Given the description of an element on the screen output the (x, y) to click on. 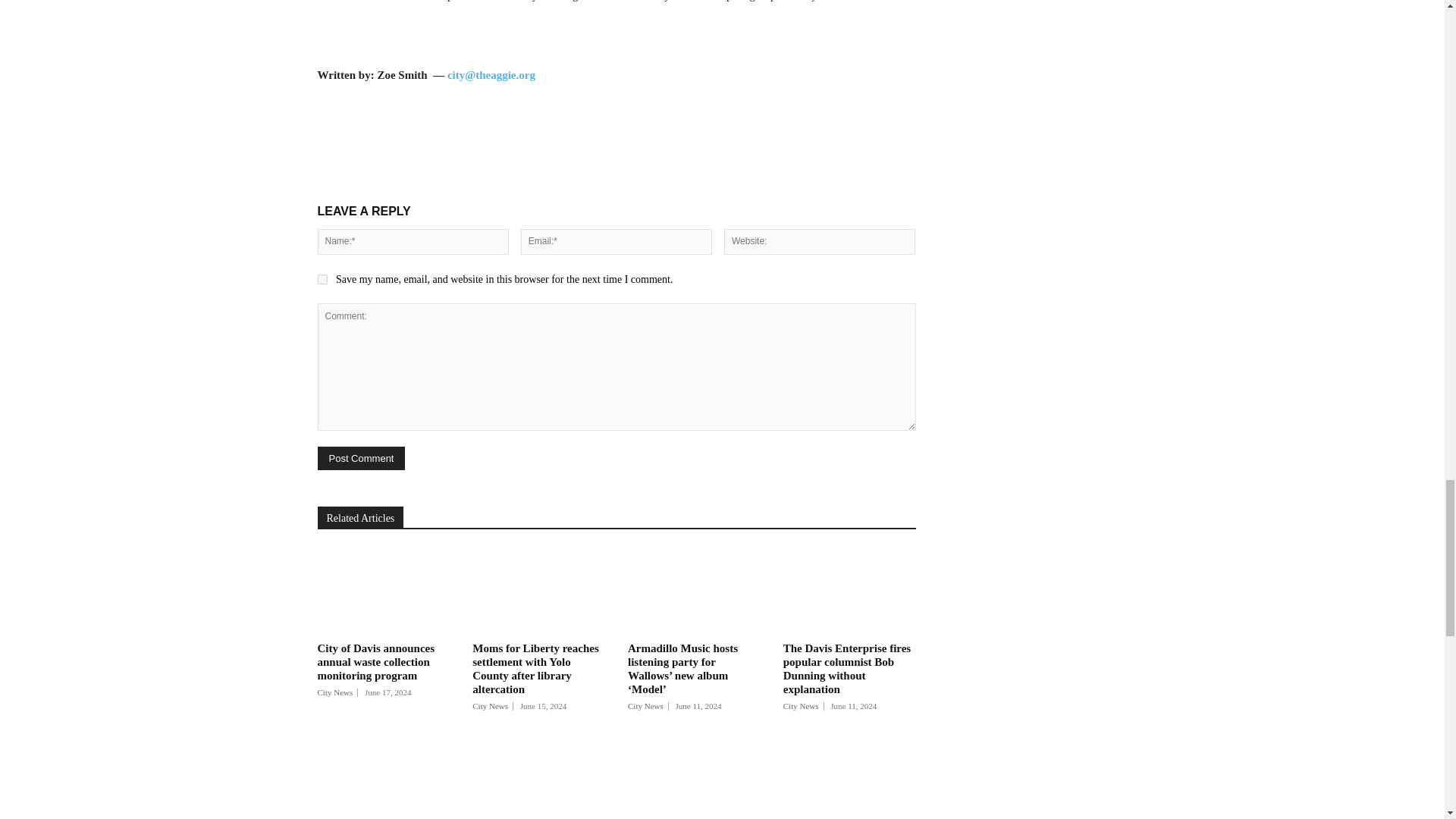
Post Comment (360, 458)
yes (321, 279)
